Given the description of an element on the screen output the (x, y) to click on. 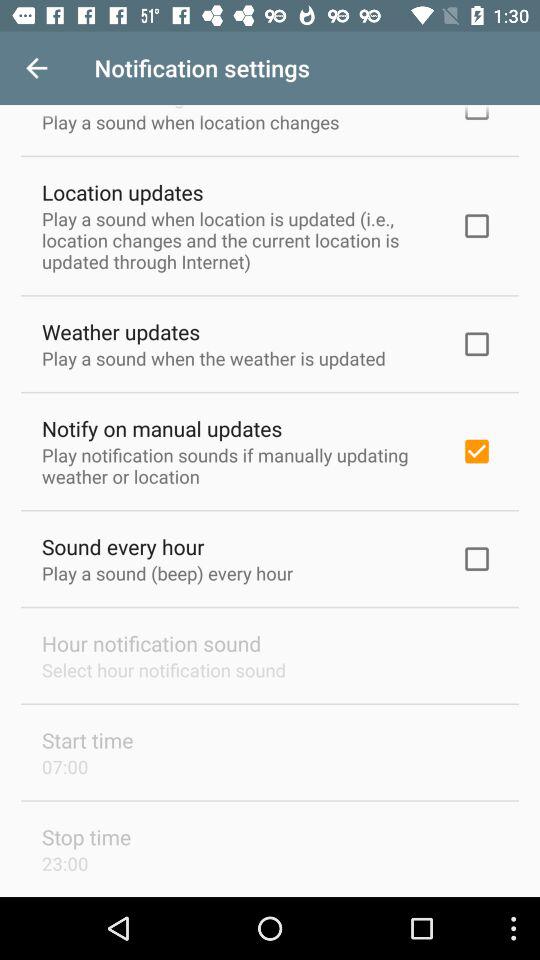
turn off the weather updates item (121, 331)
